Given the description of an element on the screen output the (x, y) to click on. 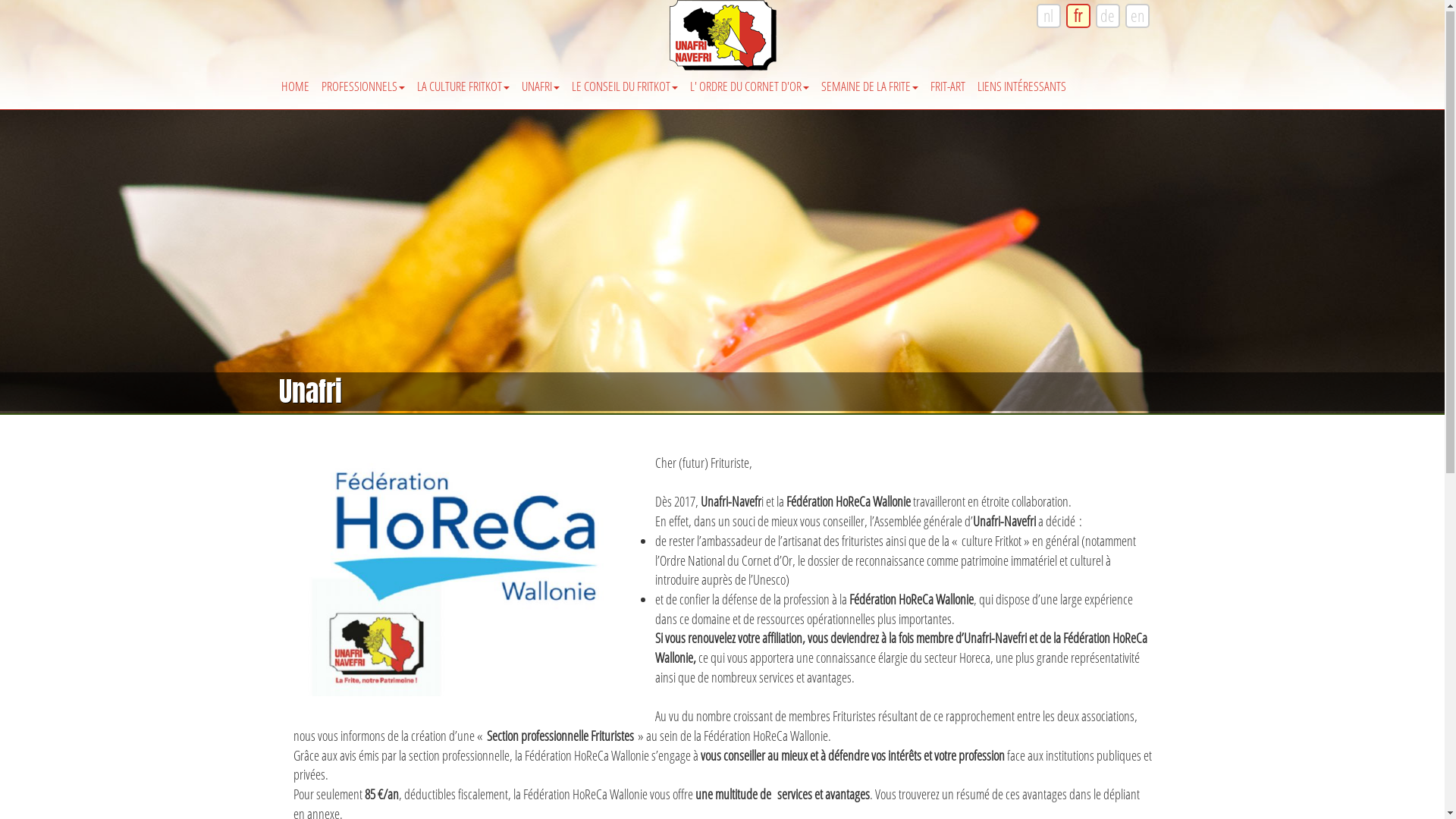
LE CONSEIL DU FRITKOT Element type: text (624, 80)
FRIT-ART Element type: text (946, 80)
nl Element type: text (1047, 16)
en Element type: text (1137, 16)
HOME Element type: text (294, 80)
UNAFRI Element type: text (540, 80)
LA CULTURE FRITKOT Element type: text (463, 80)
PROFESSIONNELS Element type: text (363, 80)
L' ORDRE DU CORNET D'OR Element type: text (749, 80)
SEMAINE DE LA FRITE Element type: text (868, 80)
de Element type: text (1106, 16)
